Given the description of an element on the screen output the (x, y) to click on. 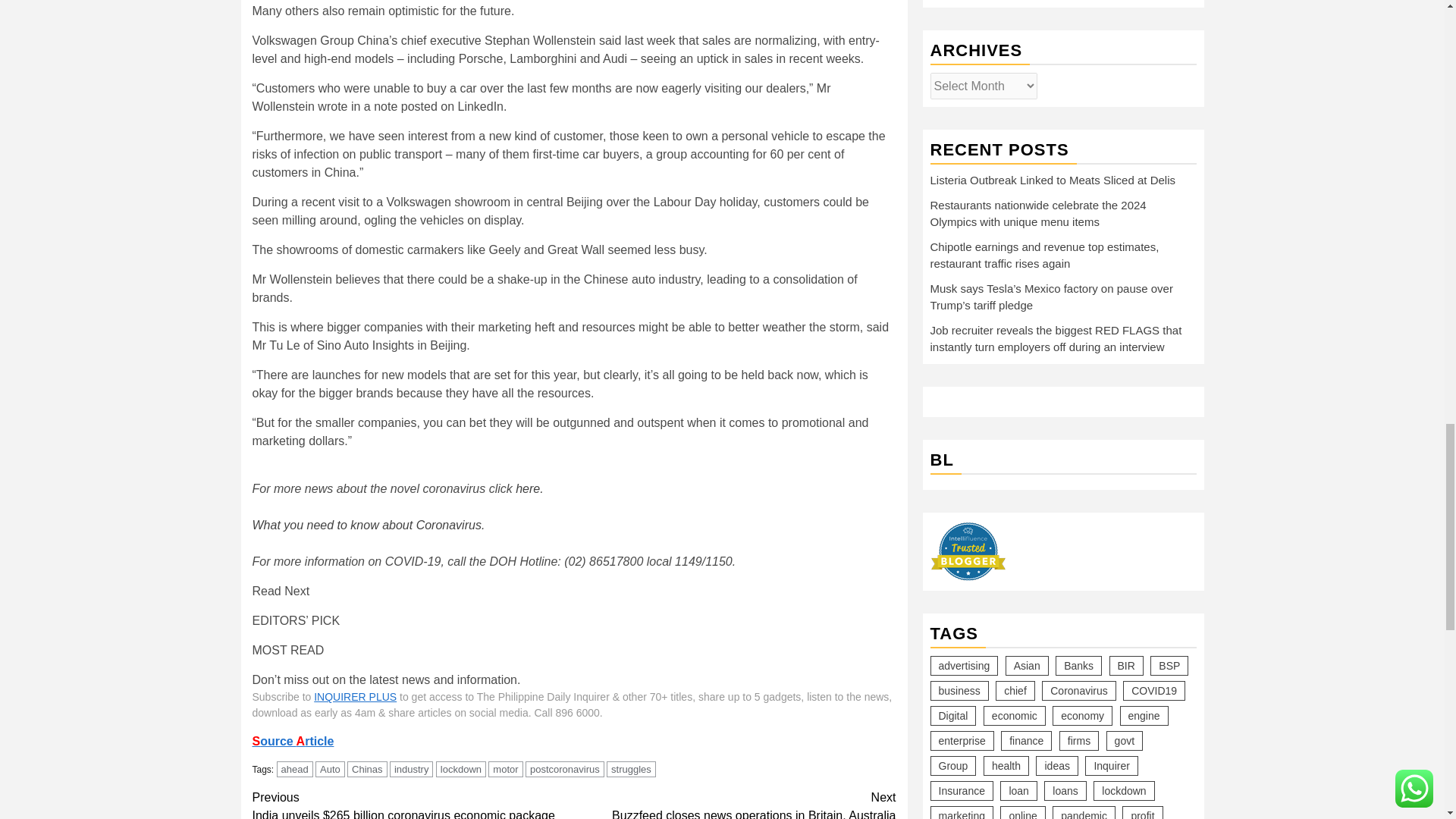
Source Article (292, 740)
lockdown (460, 769)
postcoronavirus (564, 769)
industry (411, 769)
here. (529, 488)
struggles (631, 769)
ahead (294, 769)
What you need to know about Coronavirus. (367, 524)
INQUIRER PLUS (355, 696)
motor (504, 769)
Chinas (734, 803)
Auto (367, 769)
